Given the description of an element on the screen output the (x, y) to click on. 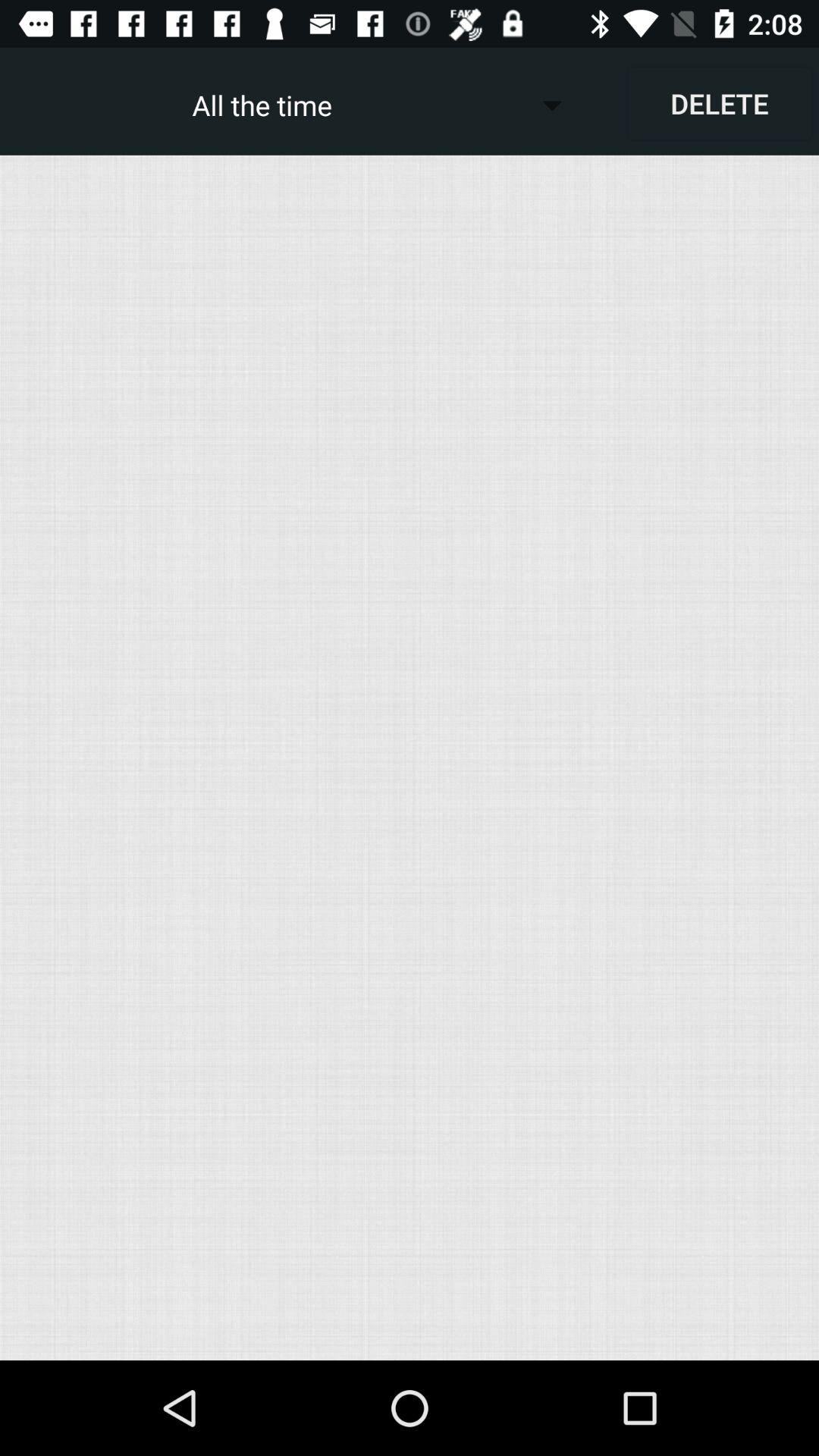
open the delete icon (719, 103)
